Given the description of an element on the screen output the (x, y) to click on. 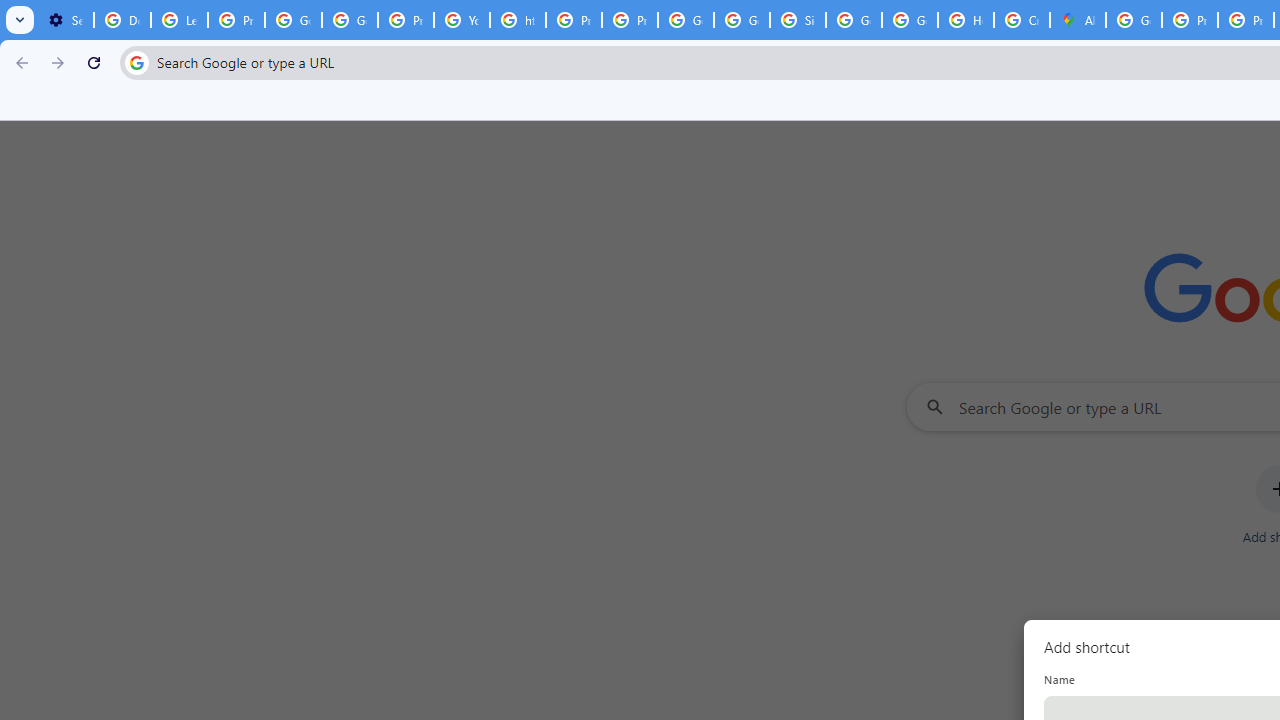
YouTube (461, 20)
Google Account Help (293, 20)
Settings - Performance (65, 20)
Privacy Help Center - Policies Help (1190, 20)
Privacy Help Center - Policies Help (573, 20)
